Given the description of an element on the screen output the (x, y) to click on. 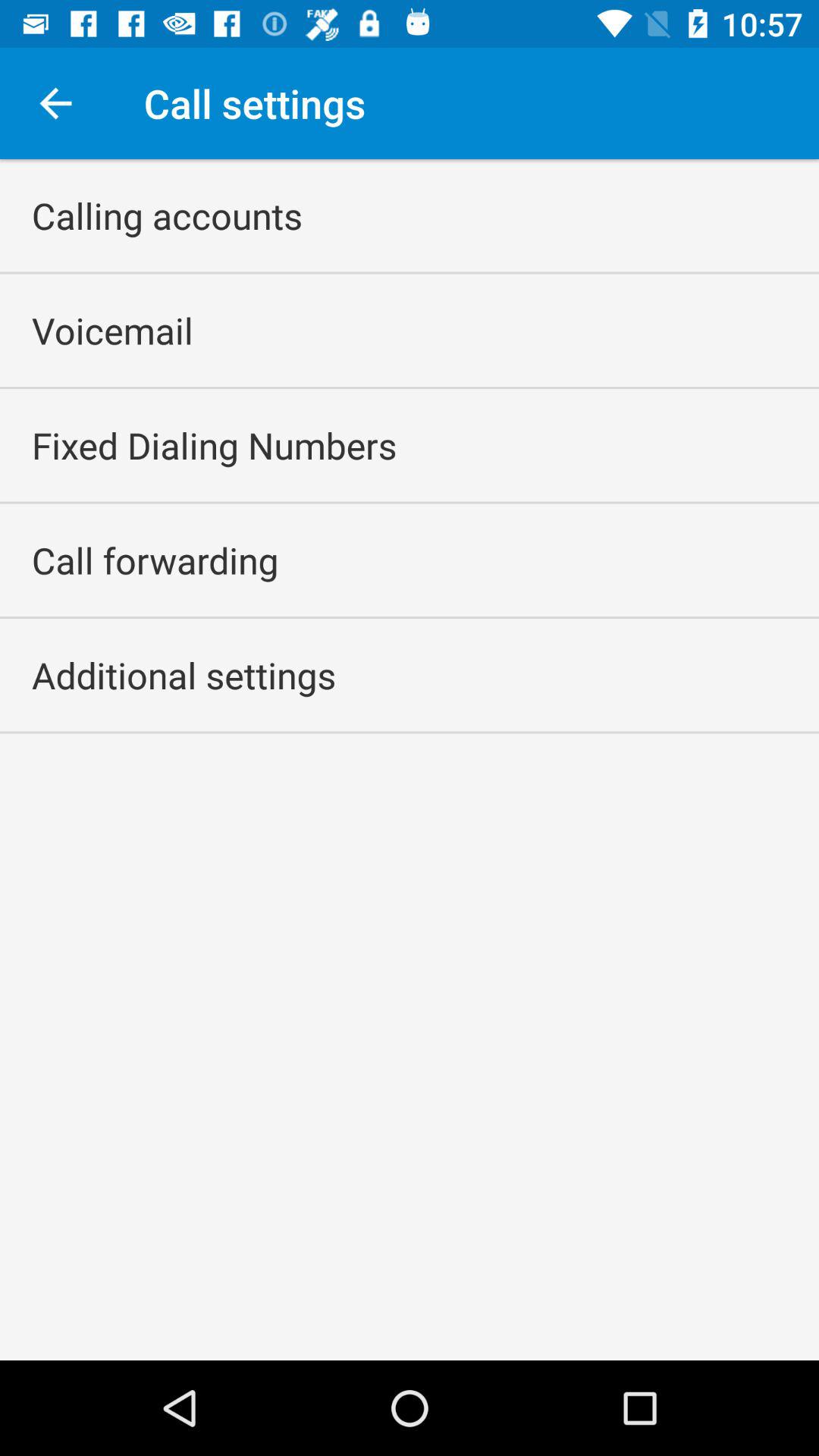
turn off the item below call forwarding app (183, 674)
